Given the description of an element on the screen output the (x, y) to click on. 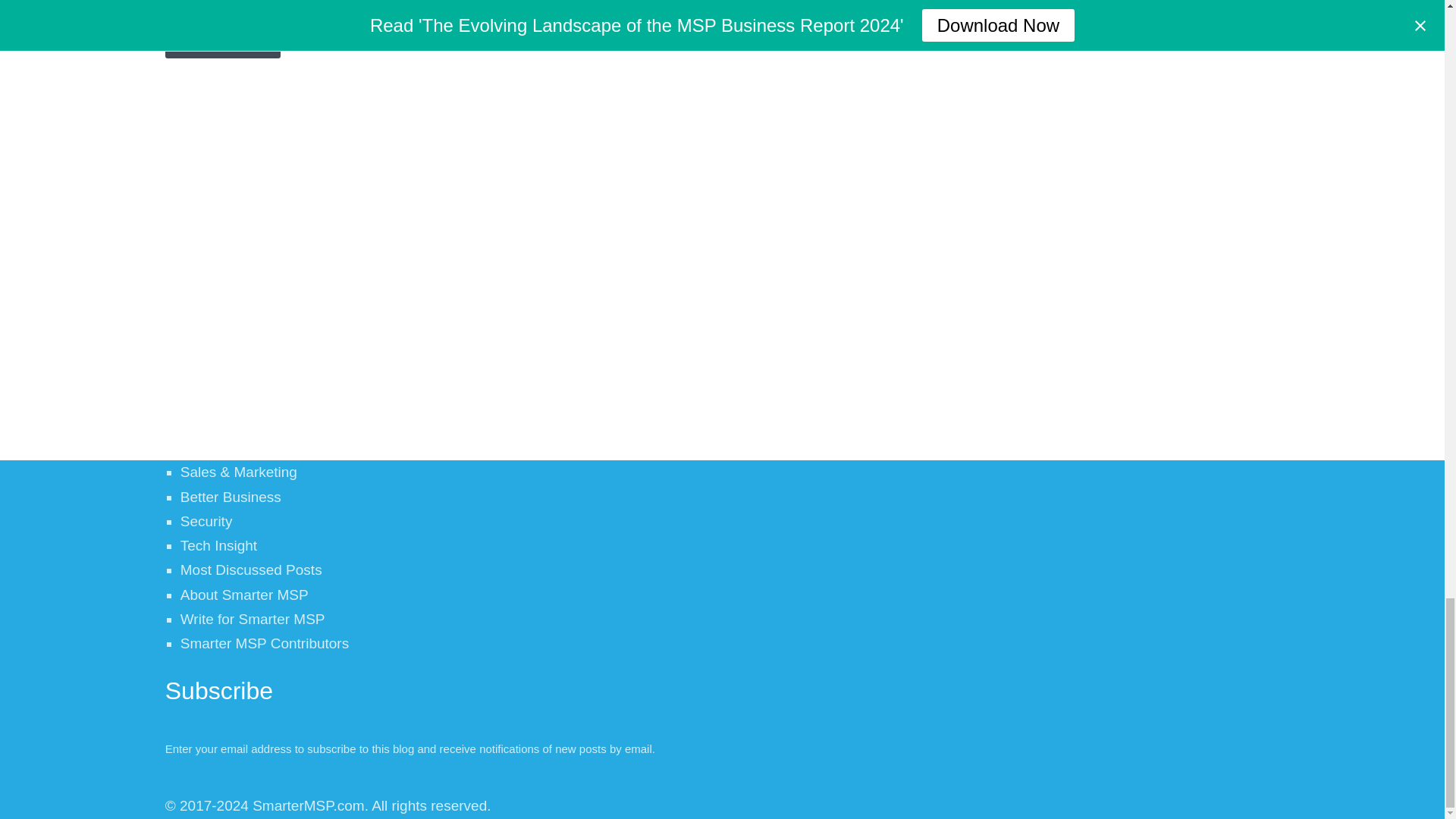
Post Comment (223, 40)
